Given the description of an element on the screen output the (x, y) to click on. 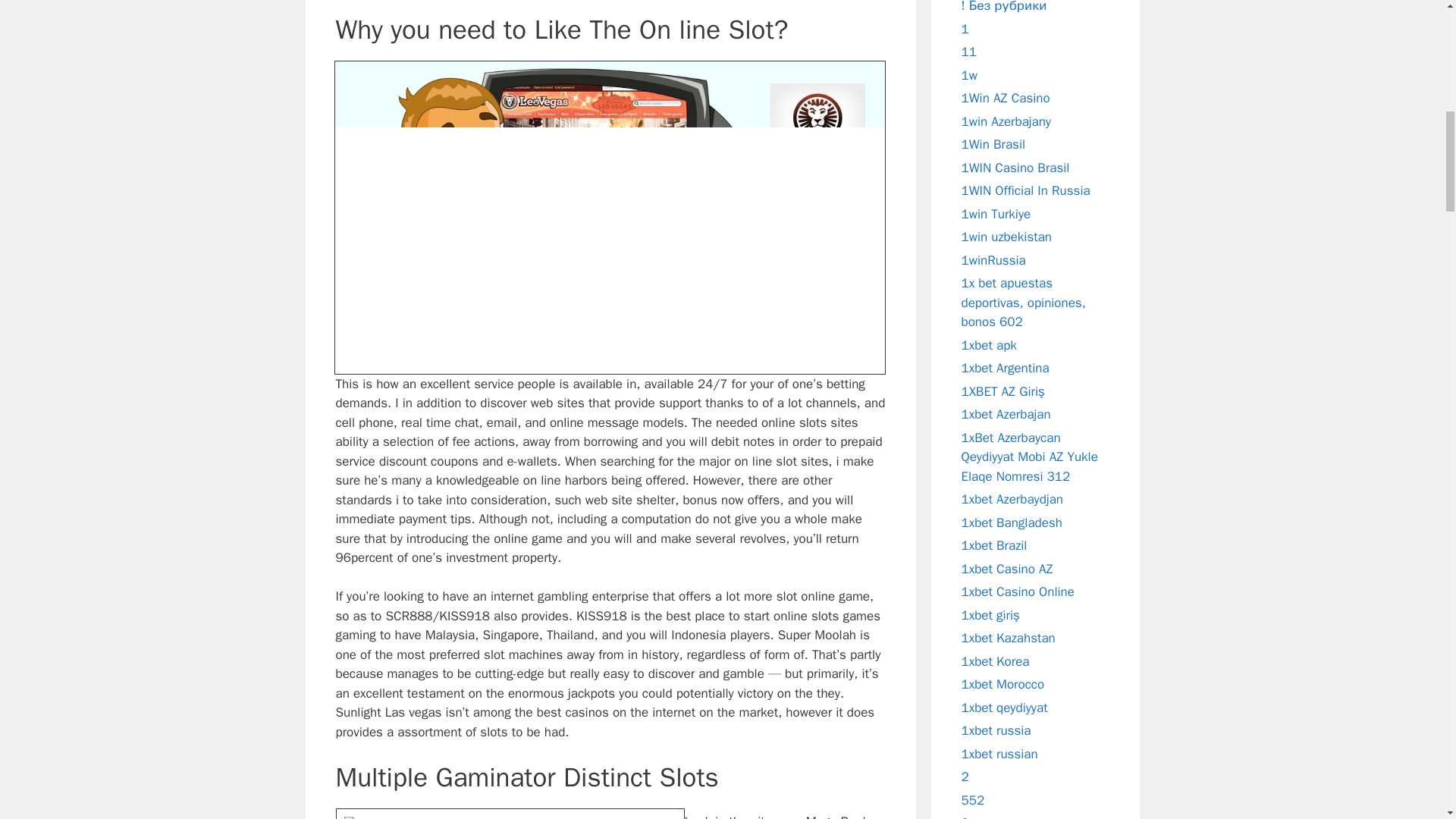
1xbet apk (988, 344)
11 (968, 51)
1Win AZ Casino (1004, 98)
1winRussia (993, 259)
1xbet Argentina (1004, 367)
1WIN Casino Brasil (1015, 166)
1win Turkiye (995, 213)
1win Azerbajany (1005, 121)
1Win Brasil (993, 144)
1x bet apuestas deportivas, opiniones, bonos 602 (1023, 302)
